Given the description of an element on the screen output the (x, y) to click on. 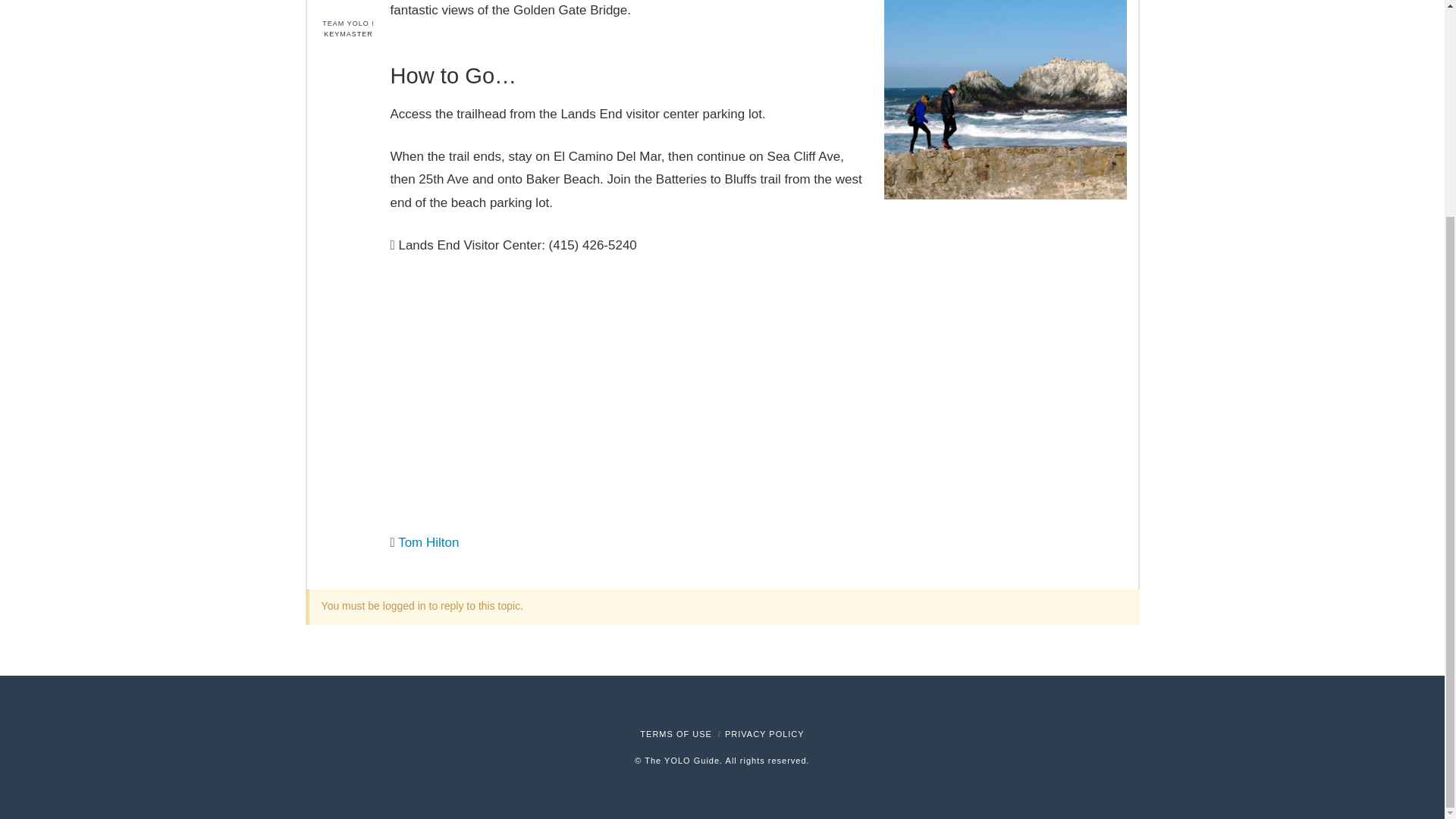
View Team YOLO !'s profile (348, 13)
TEAM YOLO ! (348, 13)
Tom Hilton (427, 542)
TERMS OF USE (675, 733)
PRIVACY POLICY (765, 733)
